Given the description of an element on the screen output the (x, y) to click on. 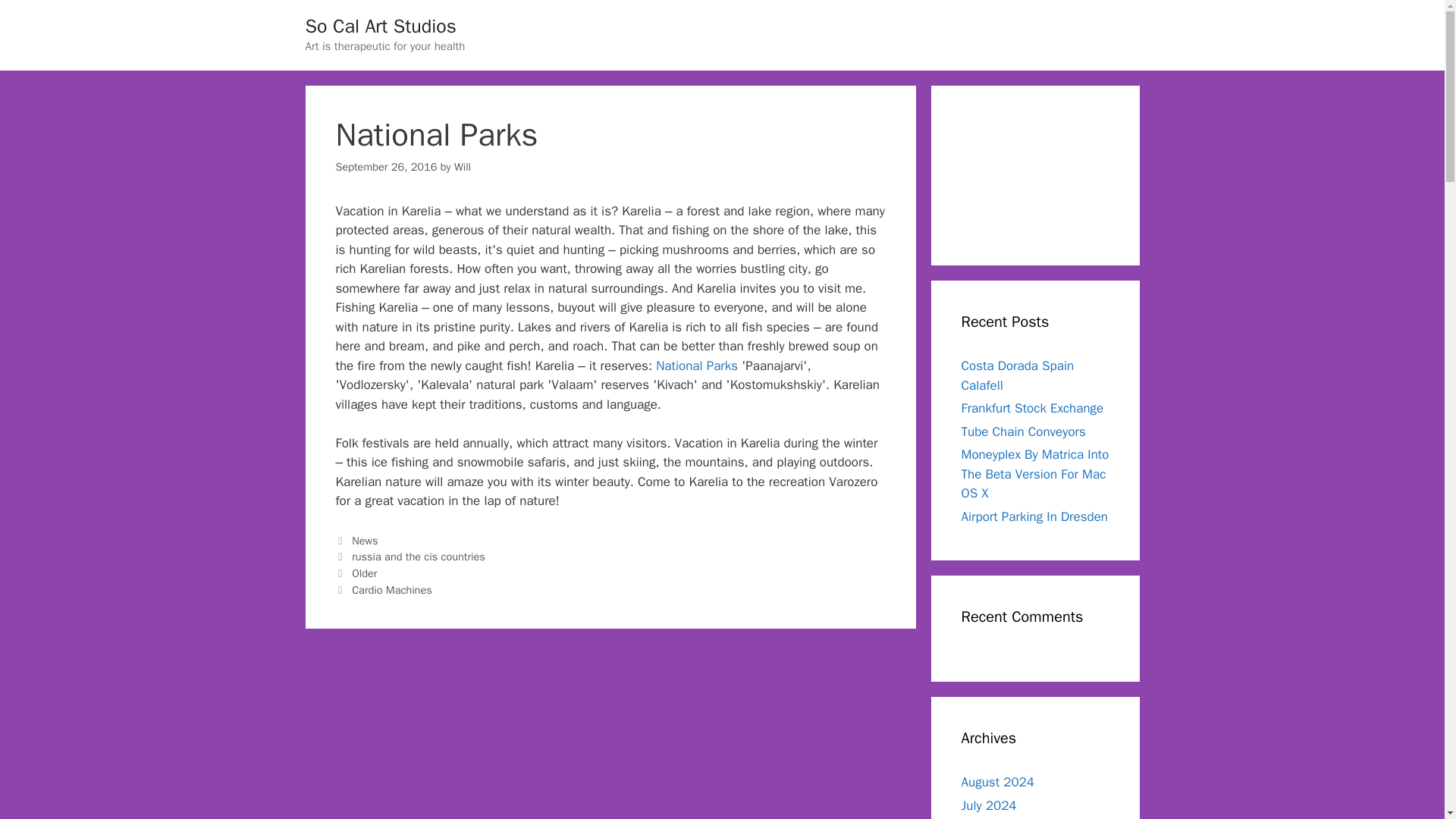
Cardio Machines (392, 590)
russia and the cis countries (418, 556)
Older (364, 572)
Airport Parking In Dresden (1034, 515)
August 2024 (996, 781)
View all posts by Will (462, 166)
Costa Dorada Spain Calafell (1017, 375)
Moneyplex By Matrica Into The Beta Version For Mac OS X (1034, 473)
July 2024 (988, 805)
Frankfurt Stock Exchange (1031, 408)
